Given the description of an element on the screen output the (x, y) to click on. 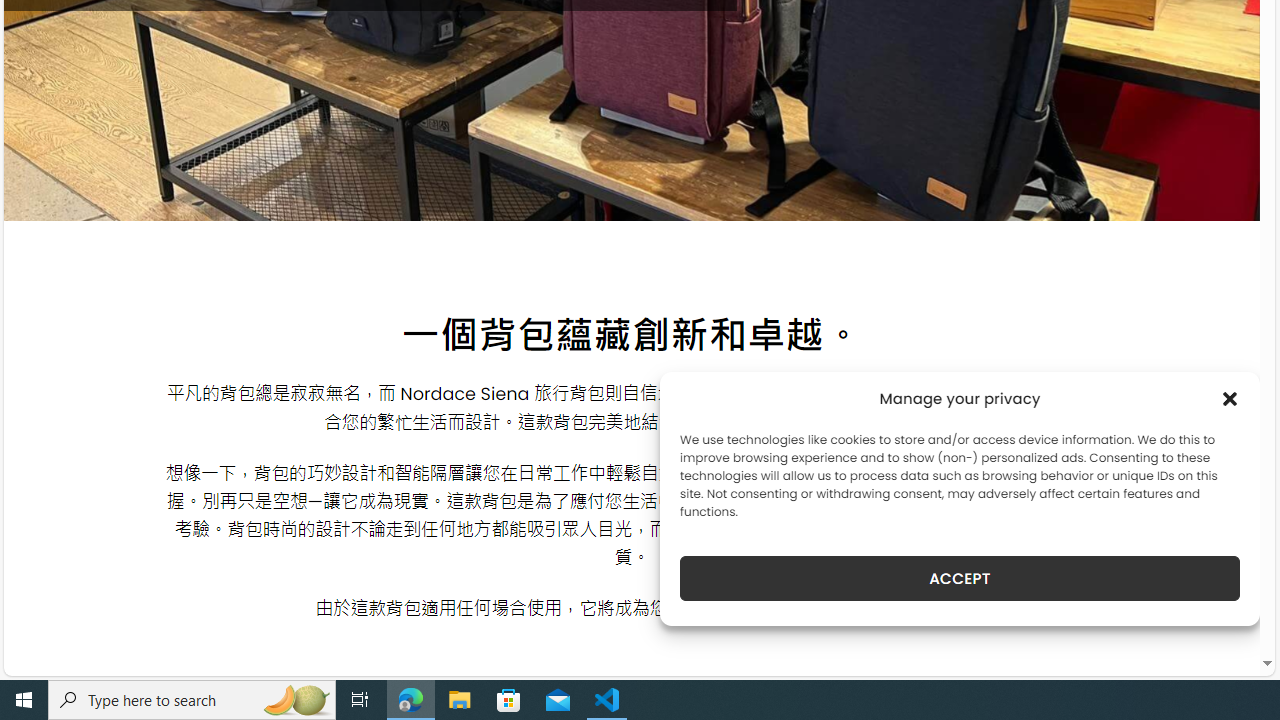
Class: cmplz-close (1229, 398)
ACCEPT (959, 578)
